Given the description of an element on the screen output the (x, y) to click on. 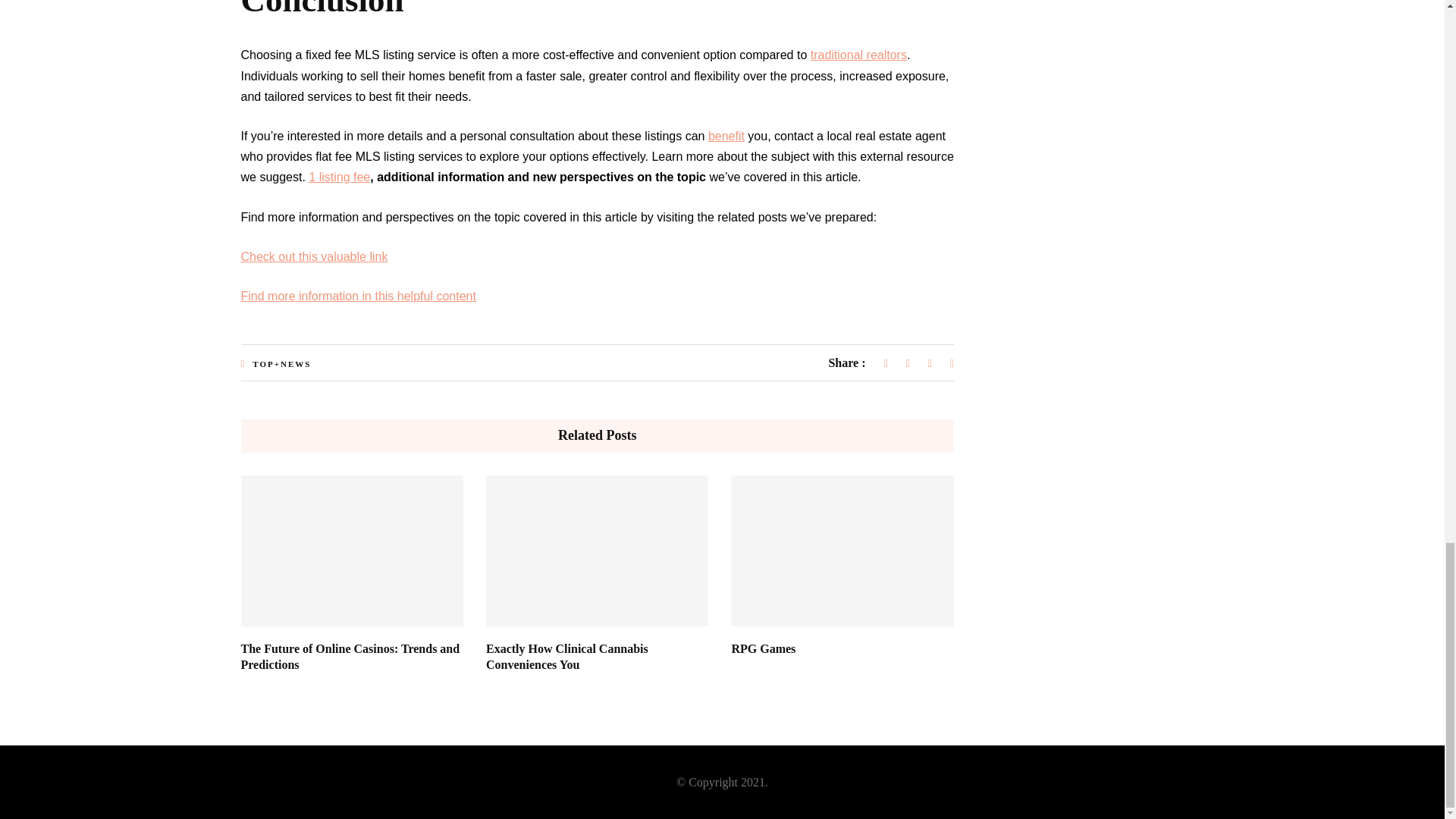
RPG Games (762, 648)
Find more information in this helpful content (358, 295)
traditional realtors (858, 54)
benefit (725, 135)
1 listing fee (338, 176)
The Future of Online Casinos: Trends and Predictions (350, 656)
Exactly How Clinical Cannabis Conveniences You (566, 656)
Check out this valuable link (314, 256)
